Given the description of an element on the screen output the (x, y) to click on. 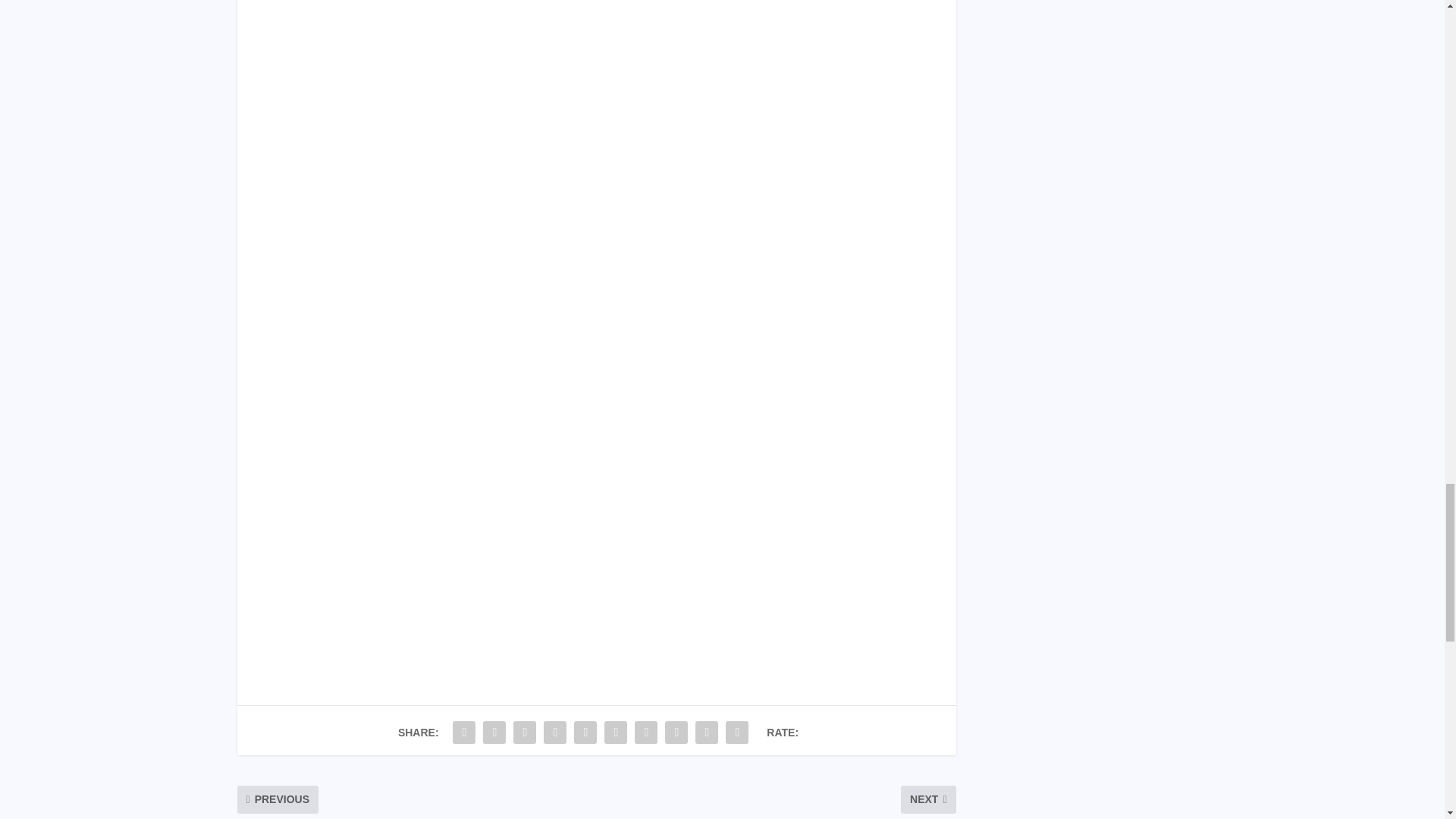
Men I Trust - Show Me How (596, 65)
